Given the description of an element on the screen output the (x, y) to click on. 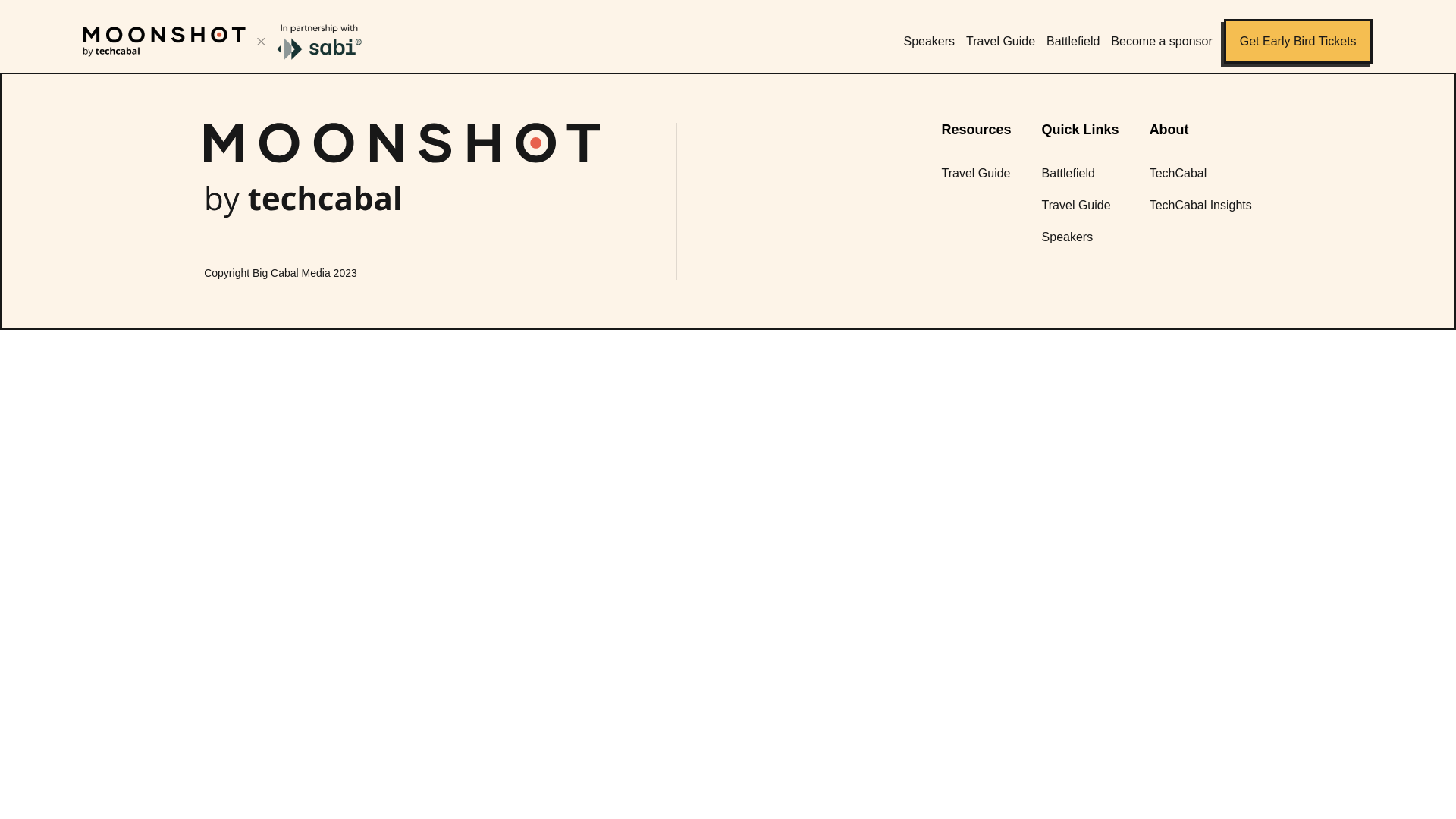
Speakers (929, 41)
Travel Guide (976, 173)
TechCabal (1178, 173)
Battlefield (1072, 41)
Become a sponsor (1160, 41)
Get Early Bird Tickets (1298, 40)
Battlefield (1068, 173)
Travel Guide (1000, 41)
Speakers (1067, 236)
TechCabal Insights (1201, 205)
Travel Guide (1076, 205)
